Given the description of an element on the screen output the (x, y) to click on. 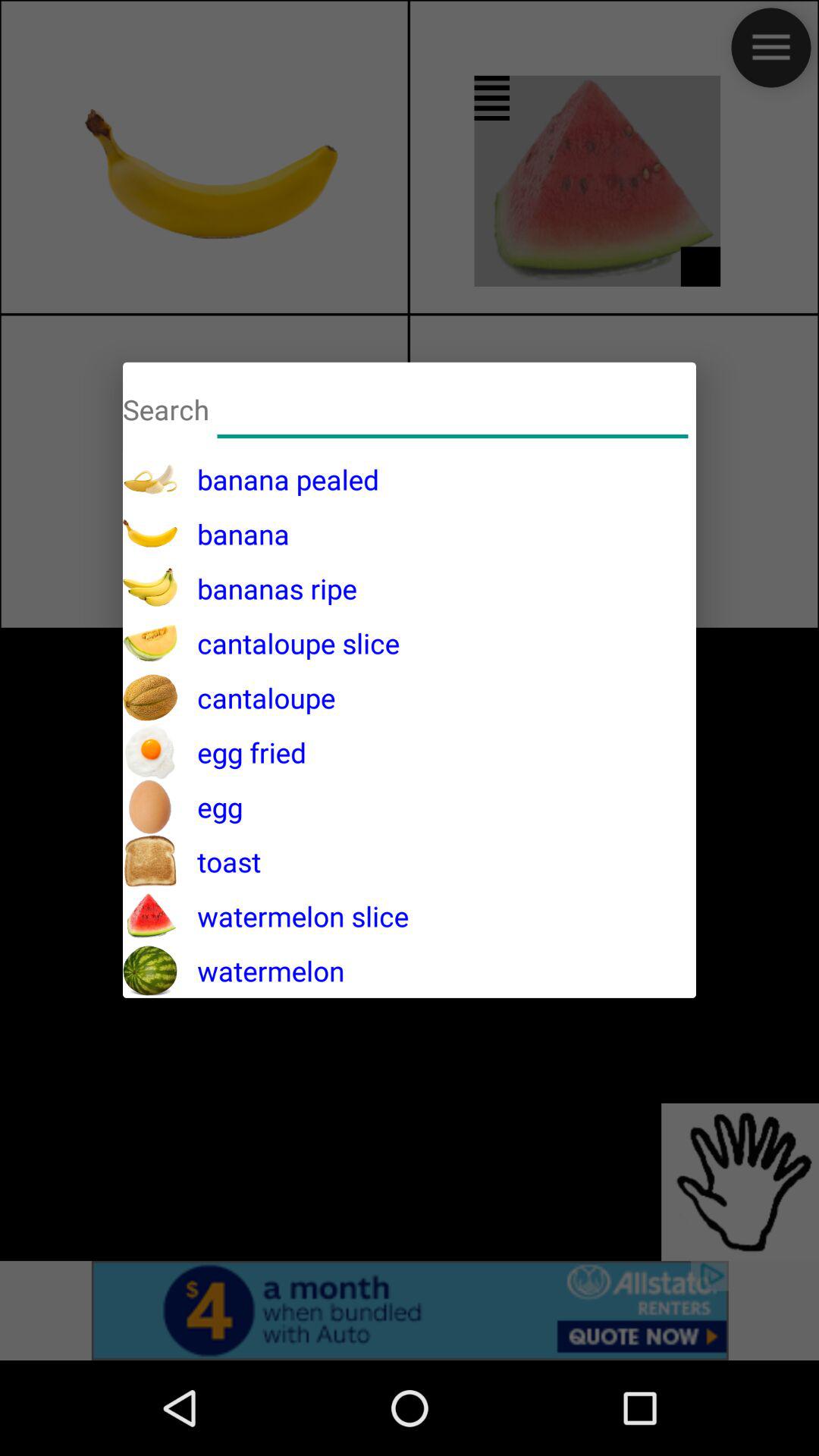
jump to the egg fried (241, 752)
